Given the description of an element on the screen output the (x, y) to click on. 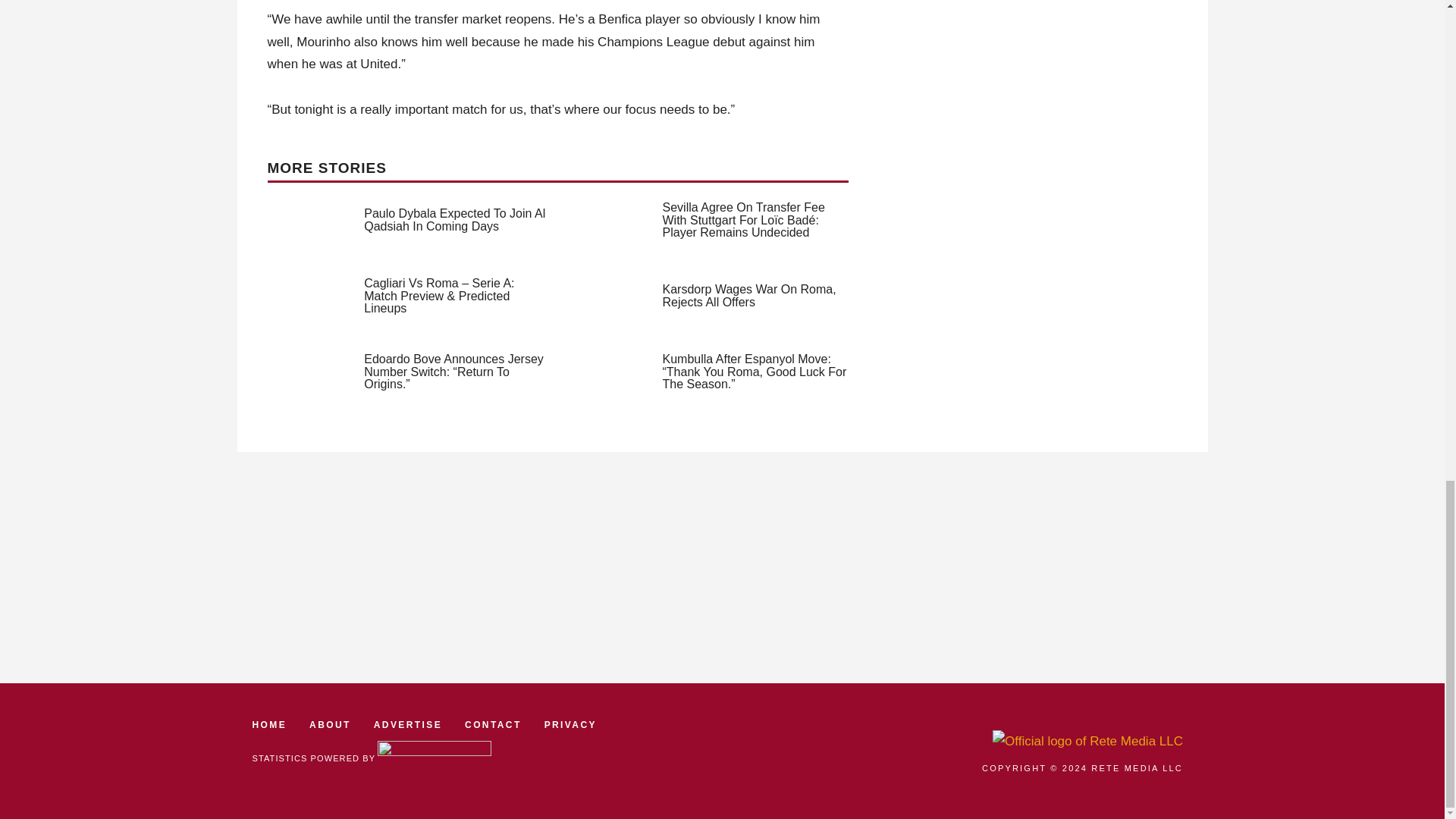
Karsdorp Wages War On Roma, Rejects All Offers (748, 295)
CONTACT (492, 725)
ADVERTISE (408, 725)
HOME (268, 725)
Paulo Dybala Expected To Join Al Qadsiah In Coming Days (454, 219)
ABOUT (329, 725)
PRIVACY (570, 725)
